Given the description of an element on the screen output the (x, y) to click on. 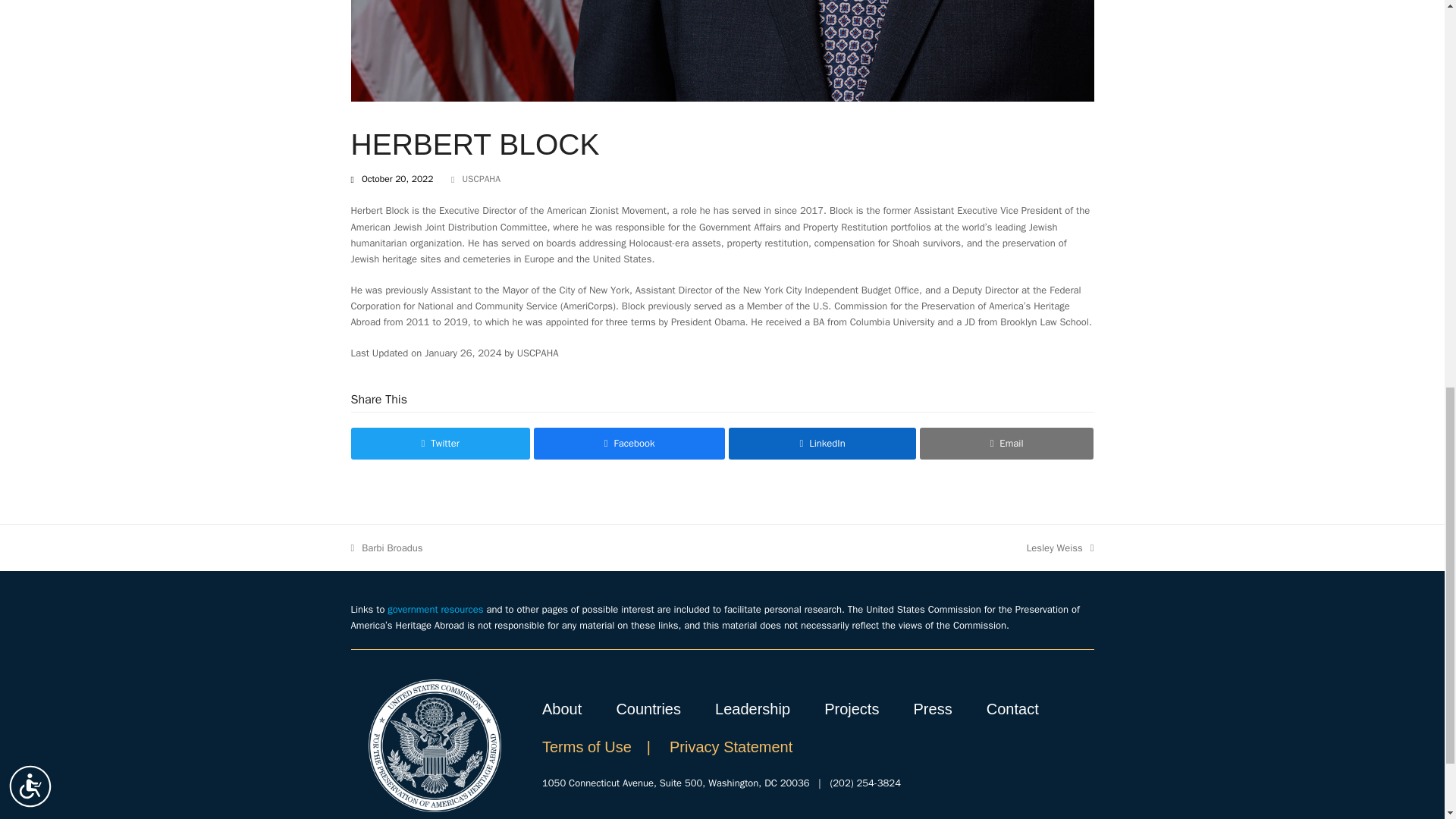
Posts by USCPAHA (480, 178)
